Given the description of an element on the screen output the (x, y) to click on. 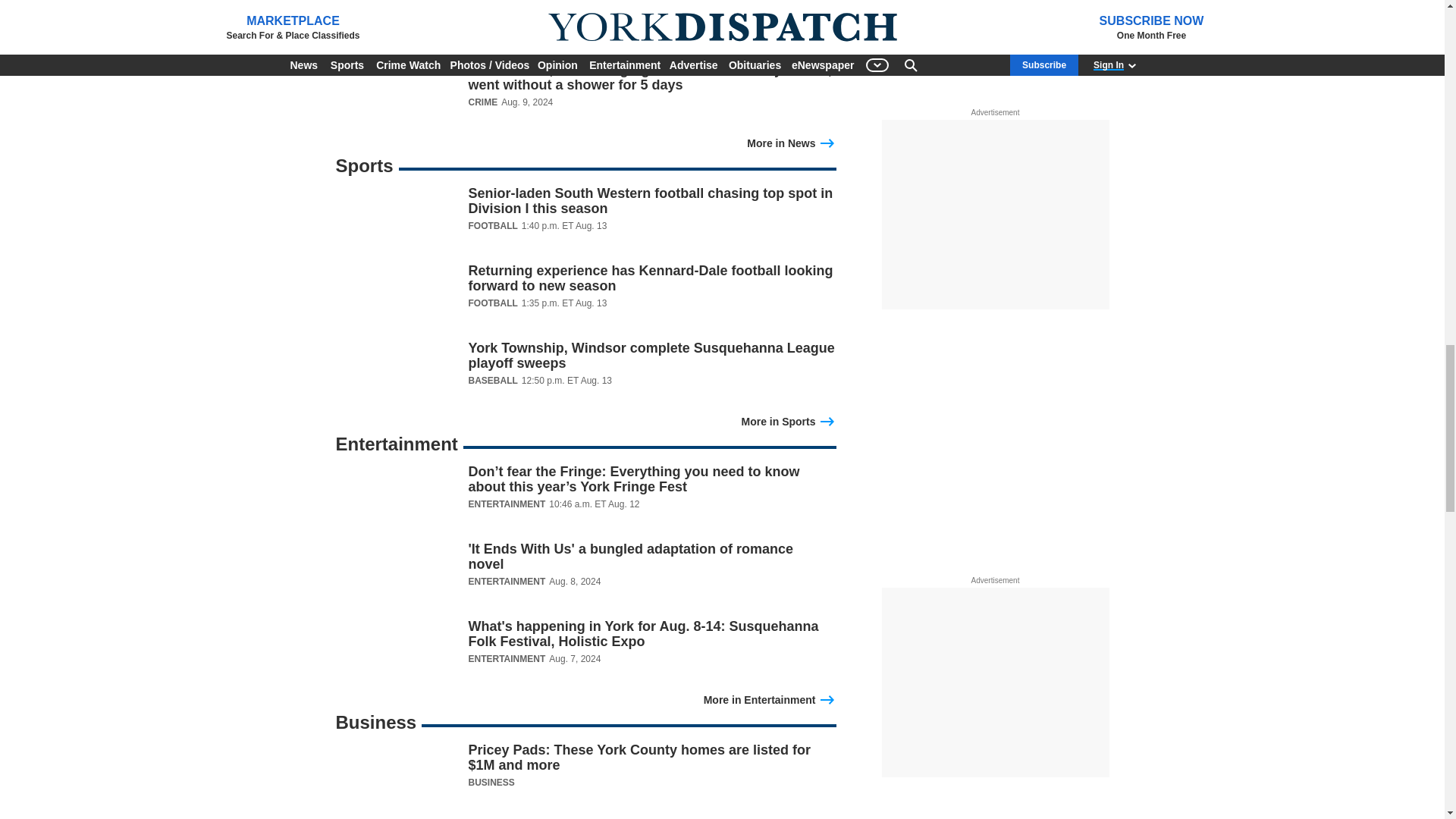
Line dancing keeps spirits high at National Night Out (584, 44)
More in News (790, 141)
